Given the description of an element on the screen output the (x, y) to click on. 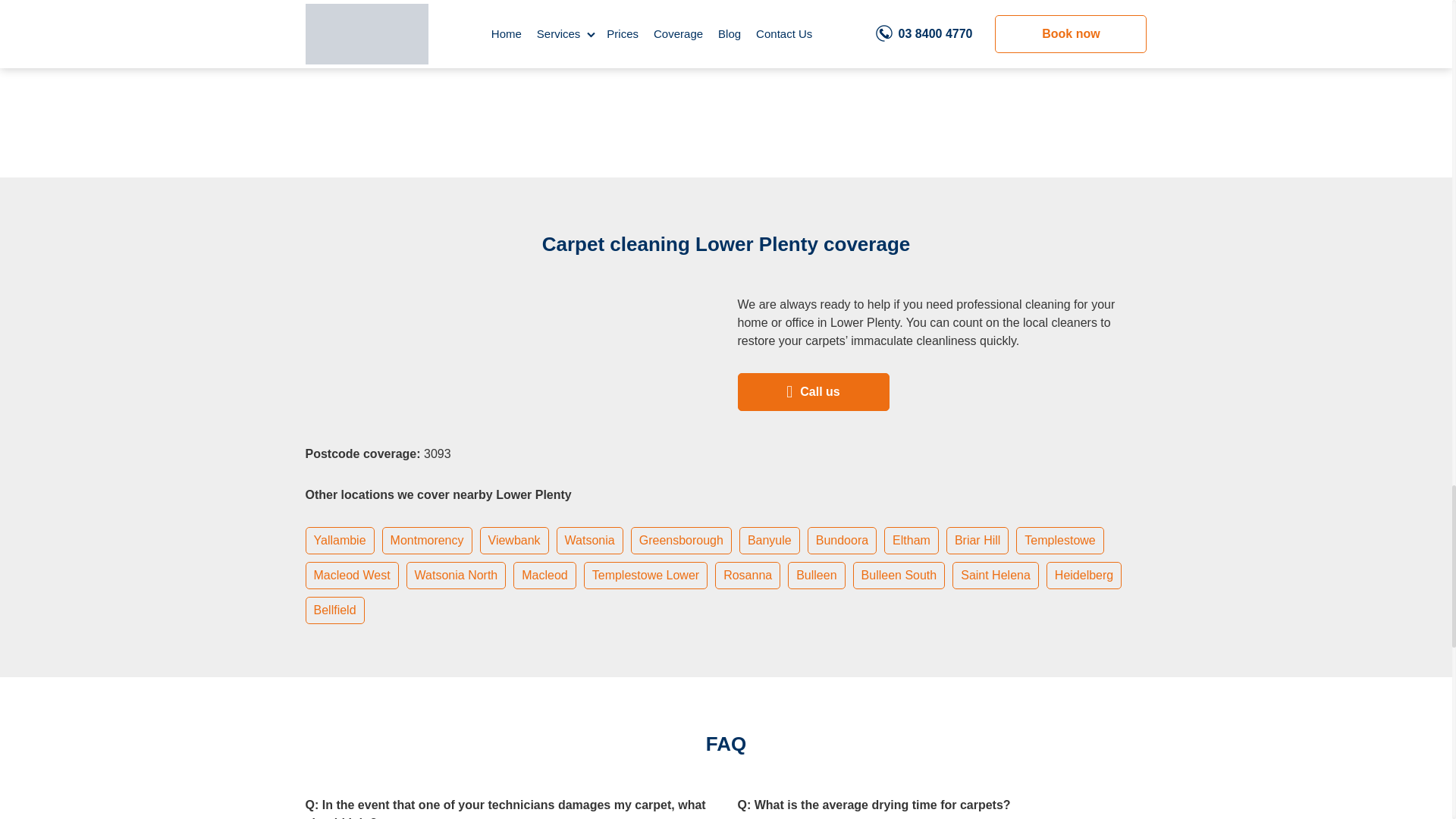
Banyule 3084 (770, 540)
Templestowe (1059, 540)
Greensborough (681, 540)
Viewbank (513, 540)
Briar Hill (977, 540)
Macleod West 3085 (352, 574)
Eltham (911, 540)
Yallambie (340, 540)
Montmorency 3094 (427, 540)
Bundoora 3083 (841, 540)
